Given the description of an element on the screen output the (x, y) to click on. 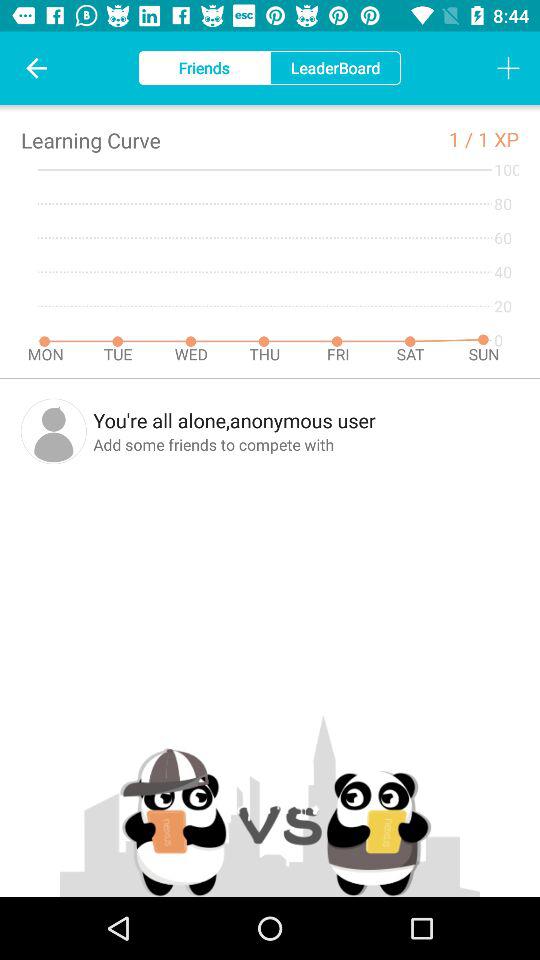
turn on the item next to the friends (36, 68)
